Given the description of an element on the screen output the (x, y) to click on. 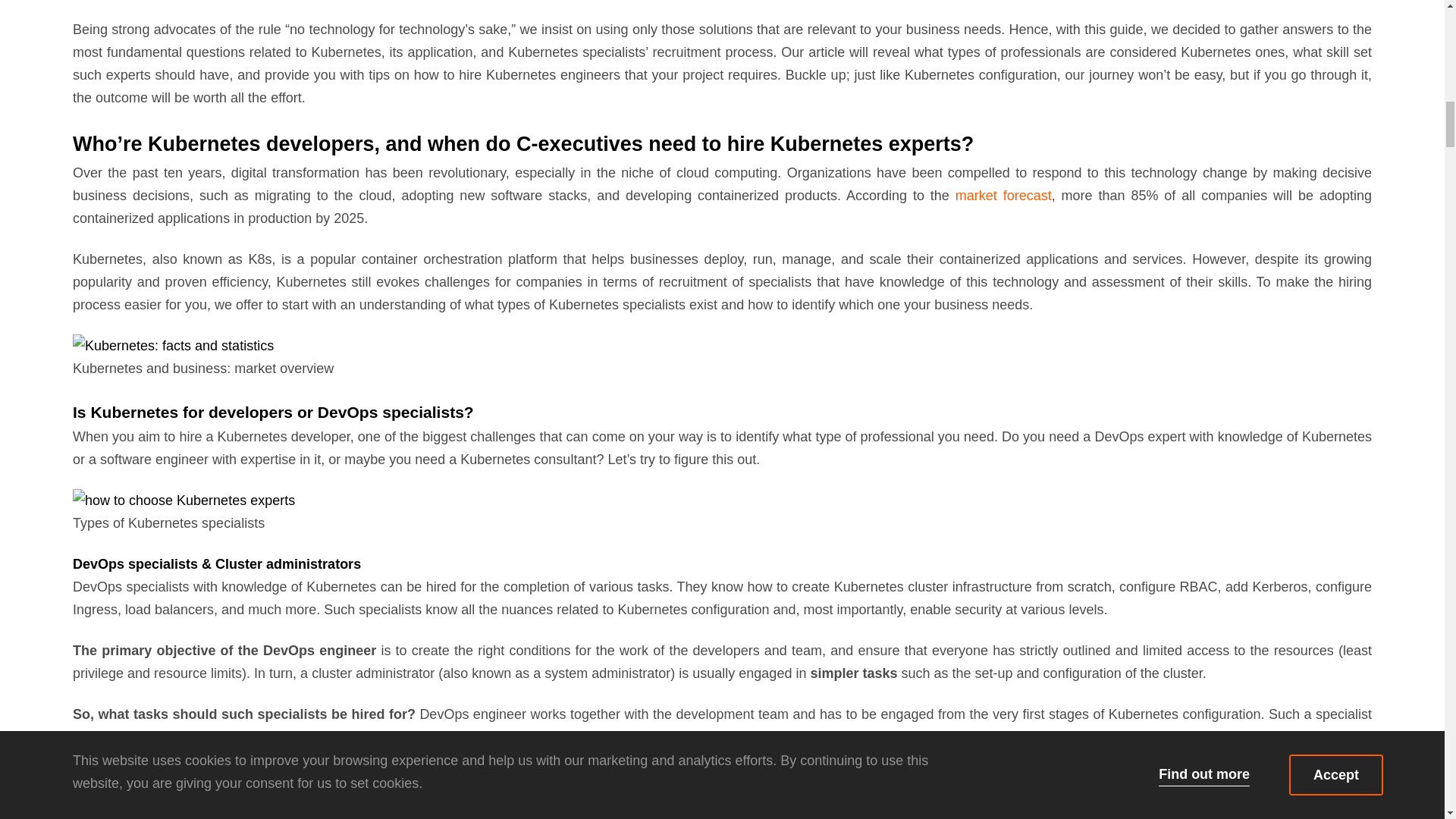
Types of Kubernetes specialists (183, 499)
